Given the description of an element on the screen output the (x, y) to click on. 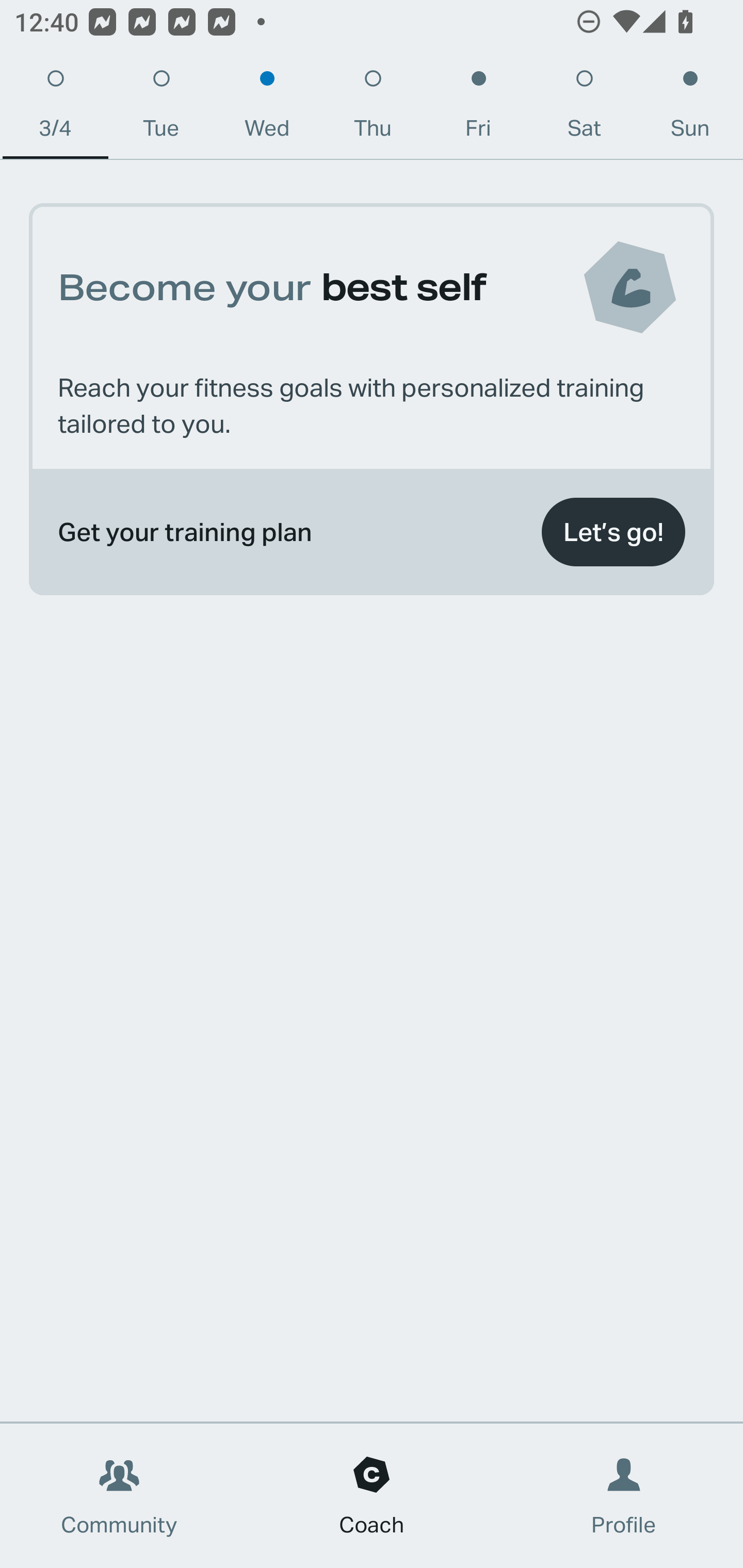
3/4 (55, 108)
Tue (160, 108)
Wed (266, 108)
Thu (372, 108)
Fri (478, 108)
Sat (584, 108)
Sun (690, 108)
Let’s go! (613, 532)
Community (119, 1495)
Profile (624, 1495)
